Given the description of an element on the screen output the (x, y) to click on. 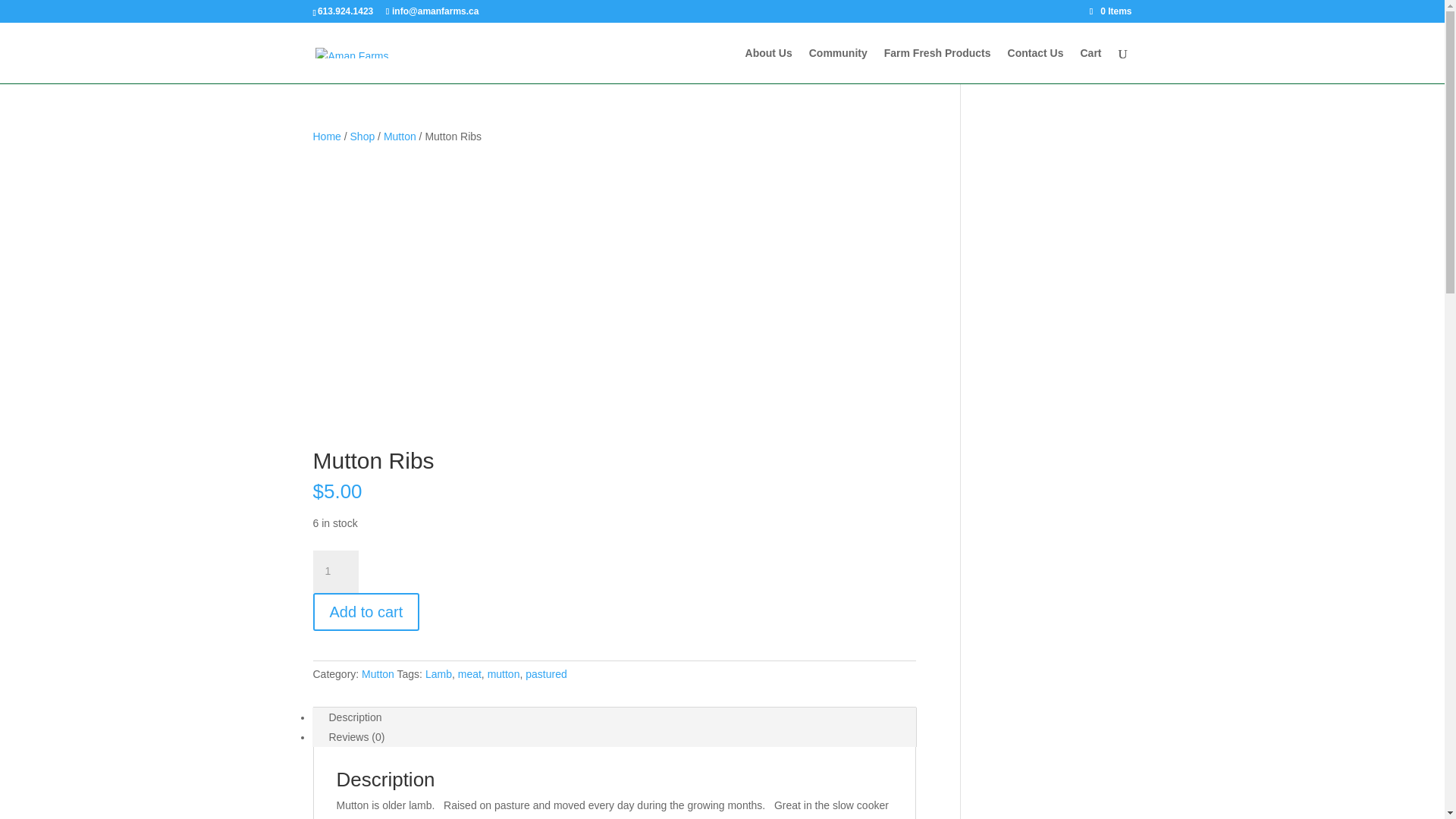
meat (469, 674)
0 Items (1110, 10)
Shop (362, 136)
1 (335, 571)
Contact Us (1035, 65)
Farm Fresh Products (937, 65)
Mutton (400, 136)
Mutton (377, 674)
Lamb (438, 674)
mutton (503, 674)
